Given the description of an element on the screen output the (x, y) to click on. 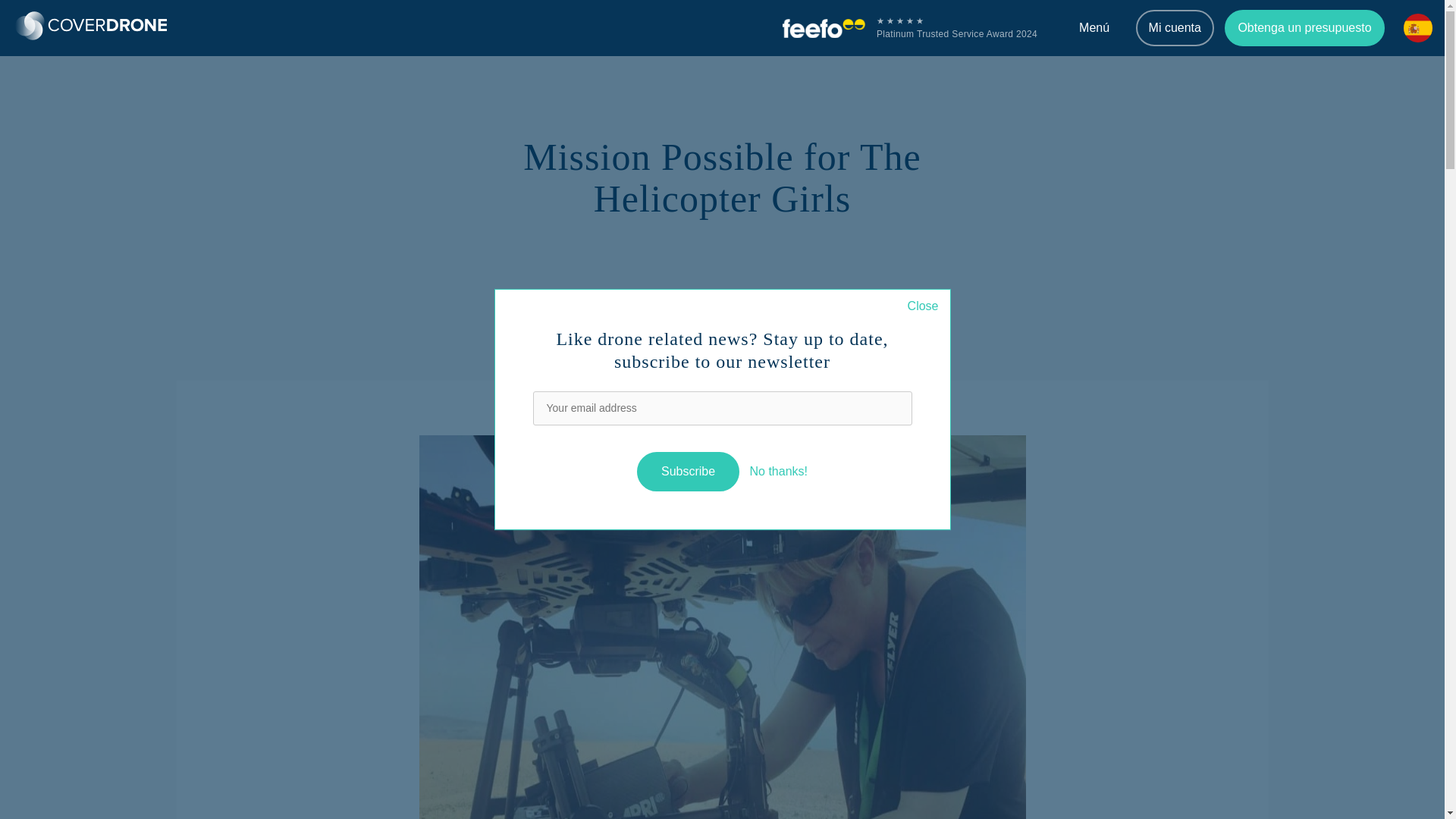
Obtenga un presupuesto (1304, 27)
Subscribe (688, 471)
Via Studios (679, 295)
Close window (923, 306)
Close window (777, 471)
Mi cuenta (1174, 27)
